Given the description of an element on the screen output the (x, y) to click on. 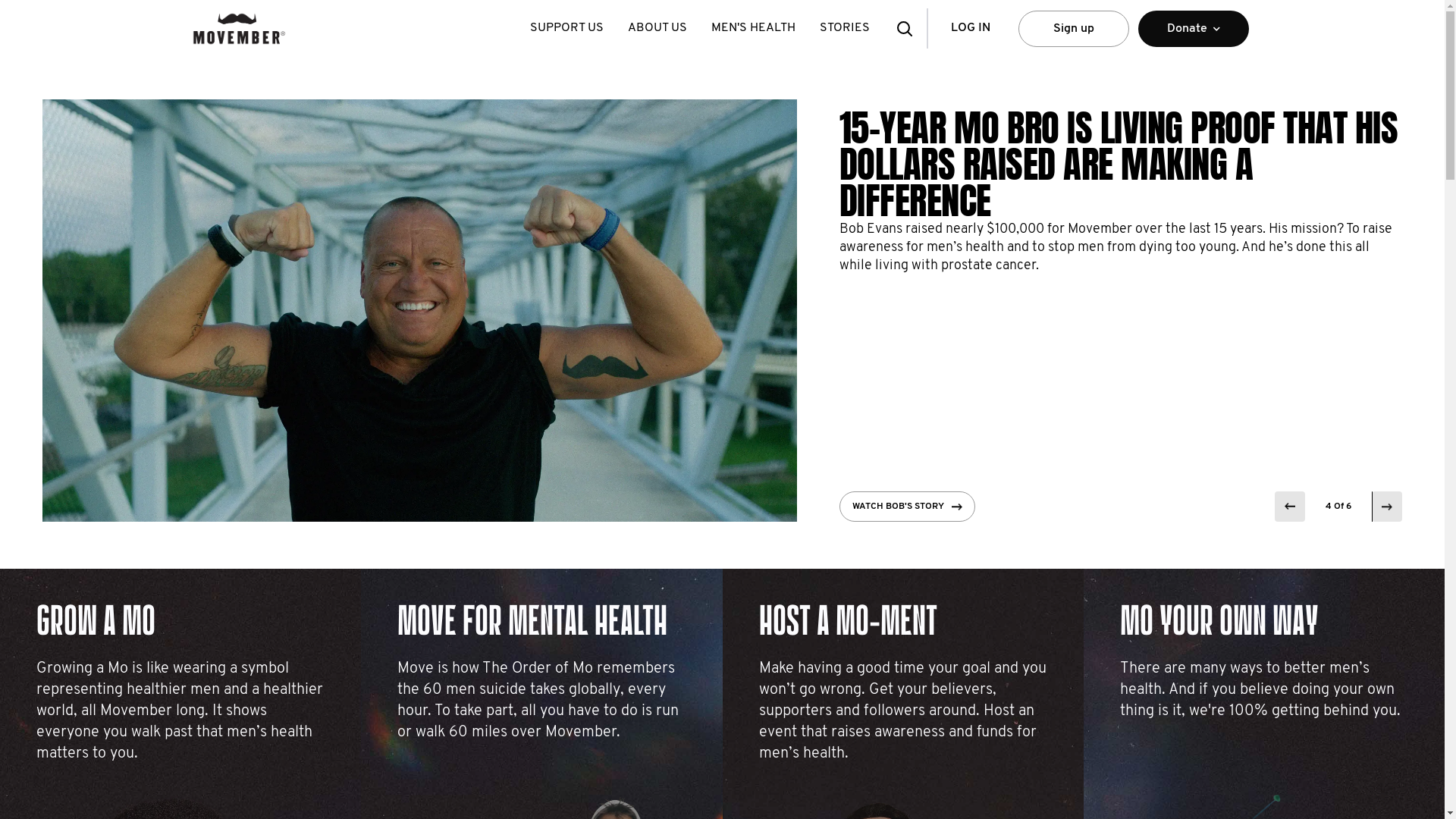
SUPPORT US Element type: text (565, 28)
MEN'S HEALTH Element type: text (753, 28)
STORIES Element type: text (844, 28)
ABOUT US Element type: text (657, 28)
DO YOU DARE? Element type: text (893, 506)
LOG IN Element type: text (969, 28)
Sign up Element type: text (1072, 28)
DARES FOR DONATIONS Element type: text (987, 127)
